Given the description of an element on the screen output the (x, y) to click on. 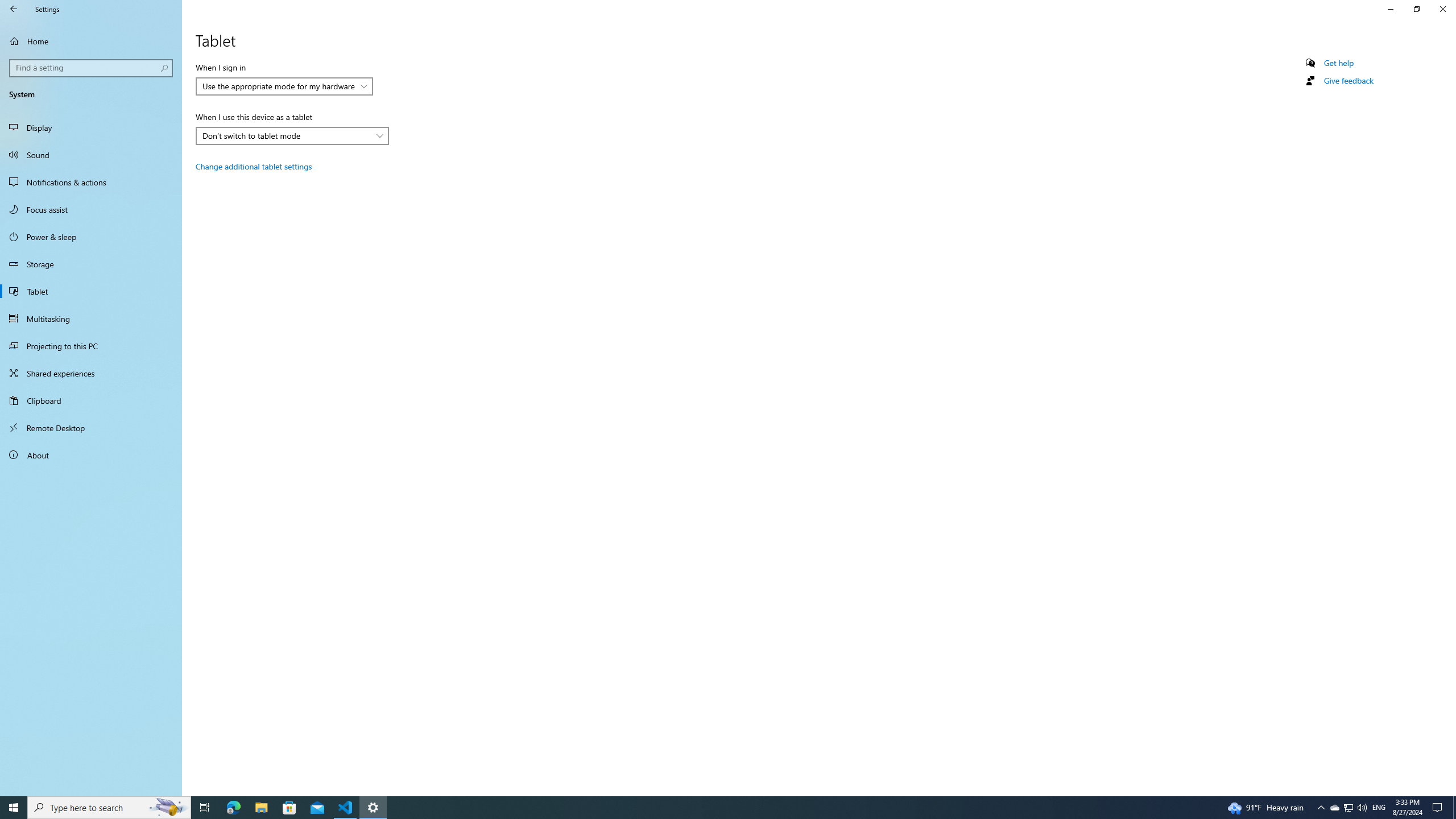
Multitasking (91, 318)
Remote Desktop (91, 427)
Tablet (91, 290)
When I sign in (283, 85)
